Given the description of an element on the screen output the (x, y) to click on. 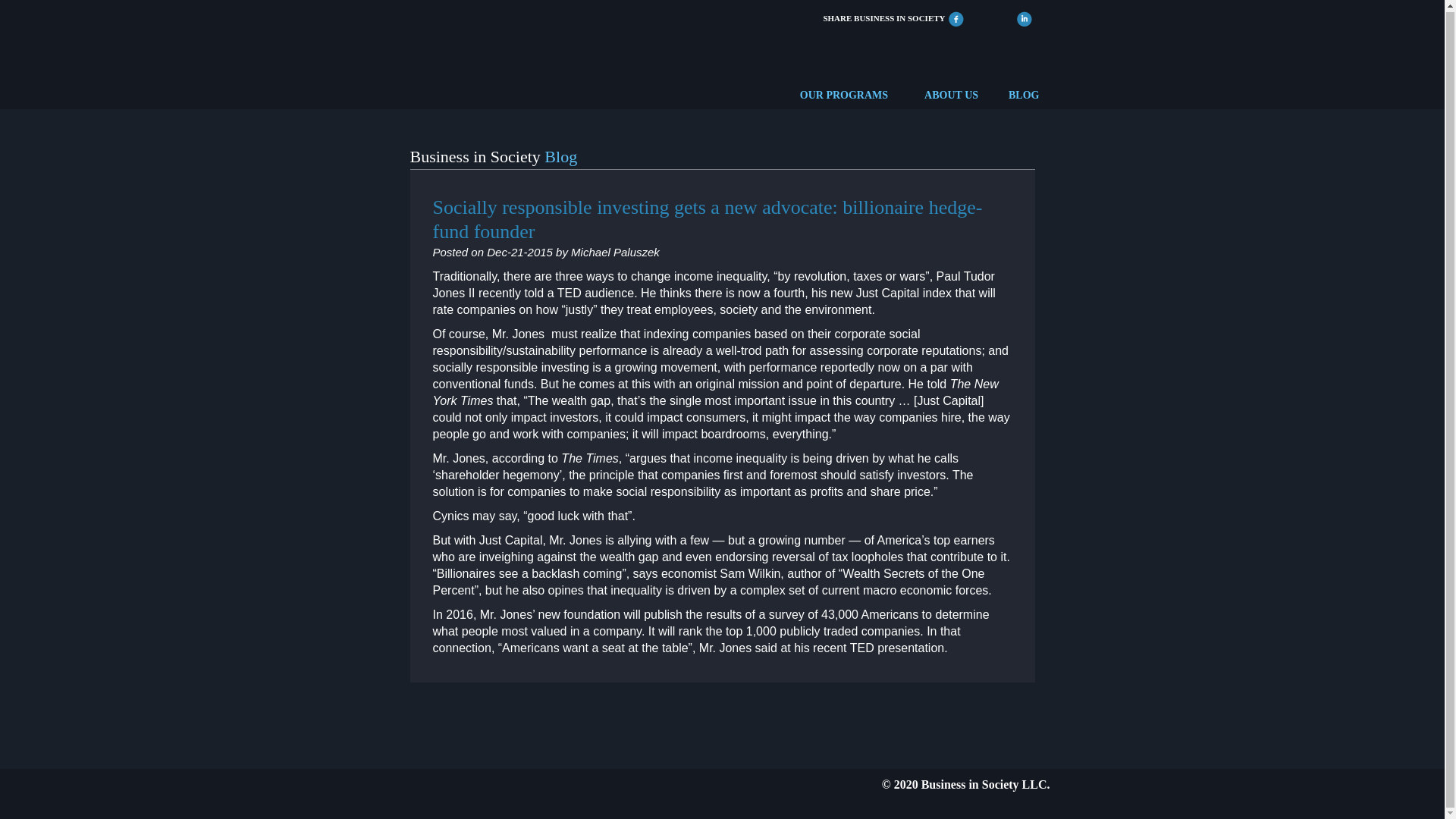
ABOUT US (951, 95)
Share On Twitter (989, 16)
Business In Society Home (453, 51)
Share On LinkedIn (1023, 16)
BLOG (1024, 95)
OUR PROGRAMS (843, 95)
Facebook (956, 16)
